Given the description of an element on the screen output the (x, y) to click on. 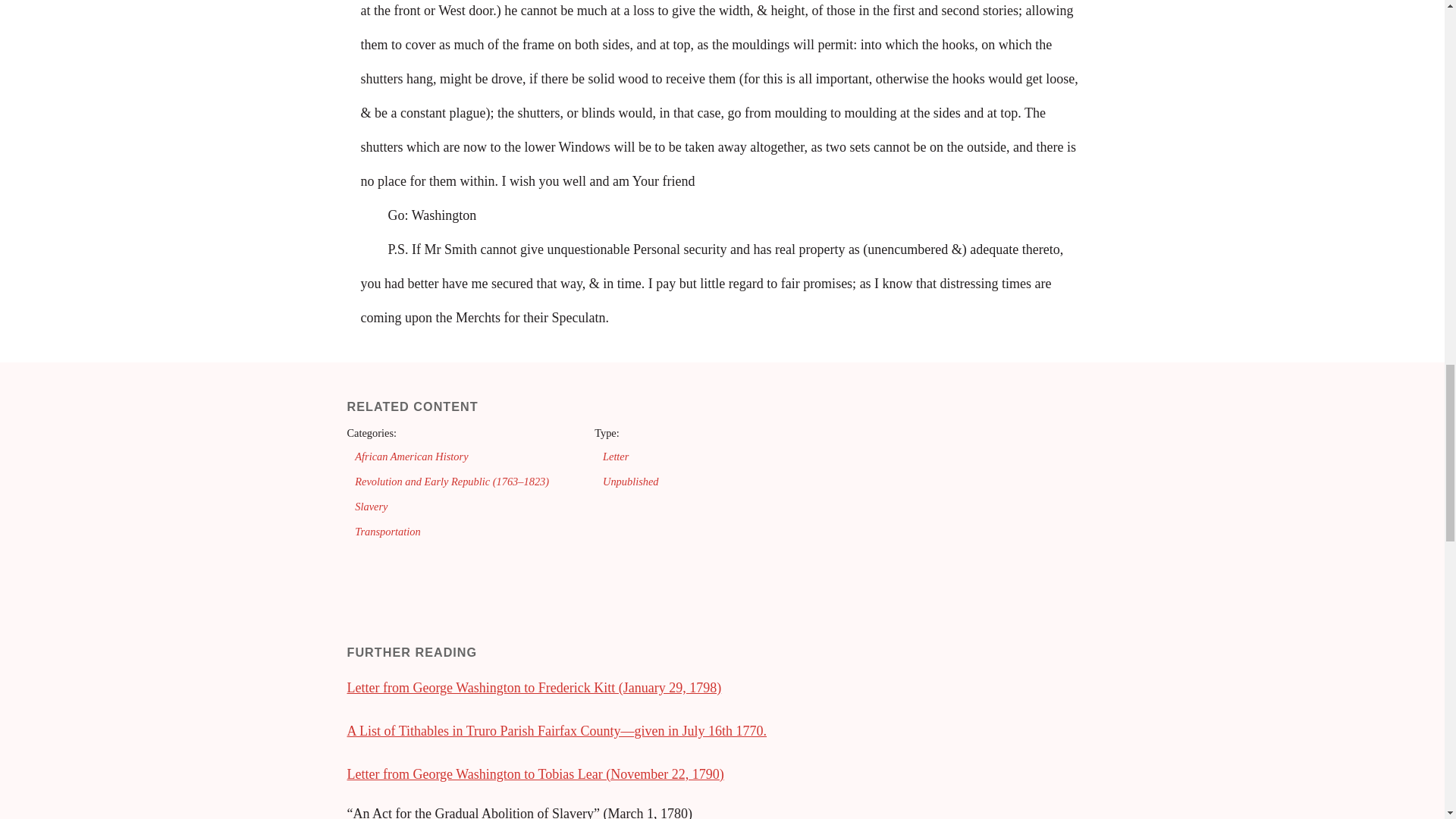
Slavery (371, 506)
Letter (615, 456)
Unpublished (630, 481)
African American History (411, 456)
Transportation (387, 531)
